Given the description of an element on the screen output the (x, y) to click on. 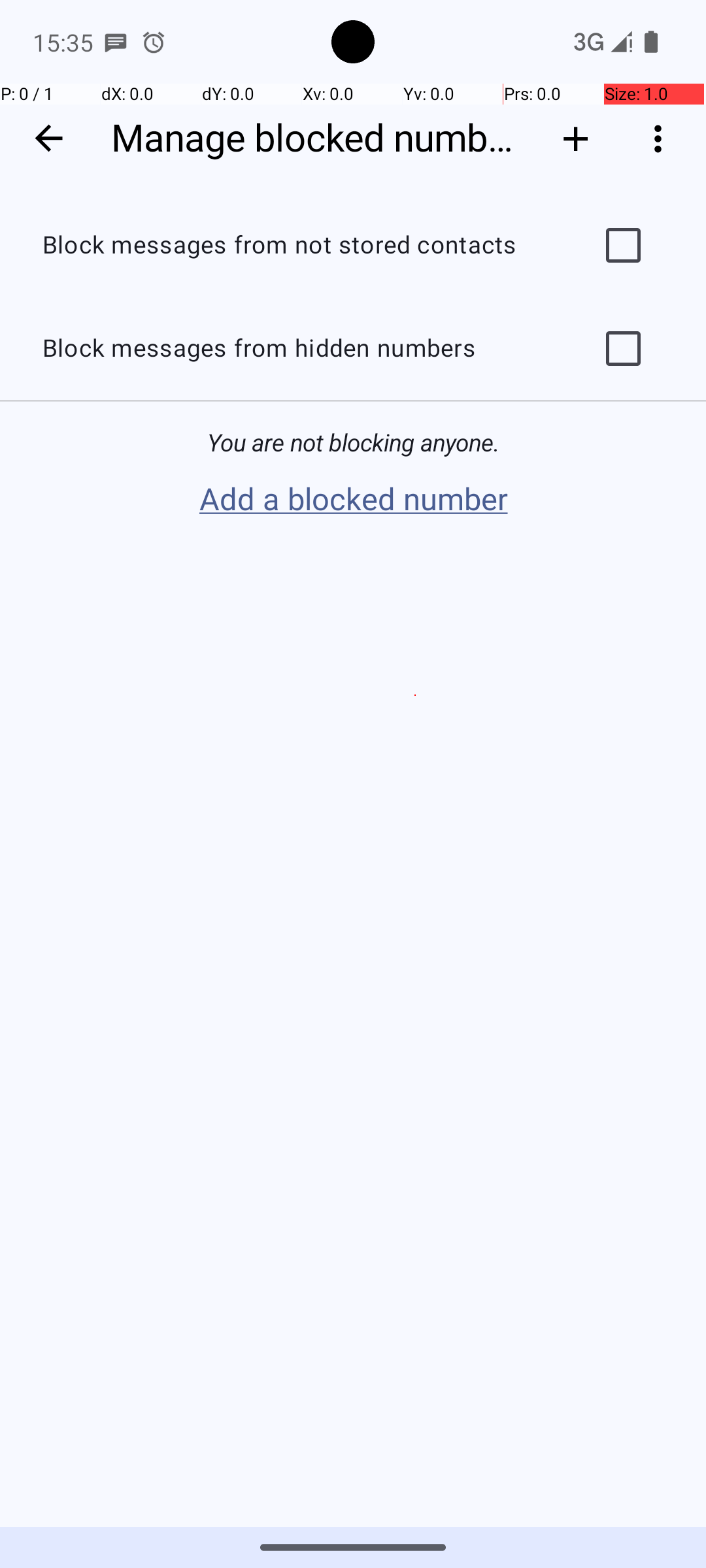
You are not blocking anyone. Element type: android.widget.TextView (352, 443)
Block messages from not stored contacts Element type: android.widget.TextView (297, 244)
Block messages from hidden numbers Element type: android.widget.TextView (297, 348)
Add a blocked number Element type: android.widget.TextView (352, 499)
